Given the description of an element on the screen output the (x, y) to click on. 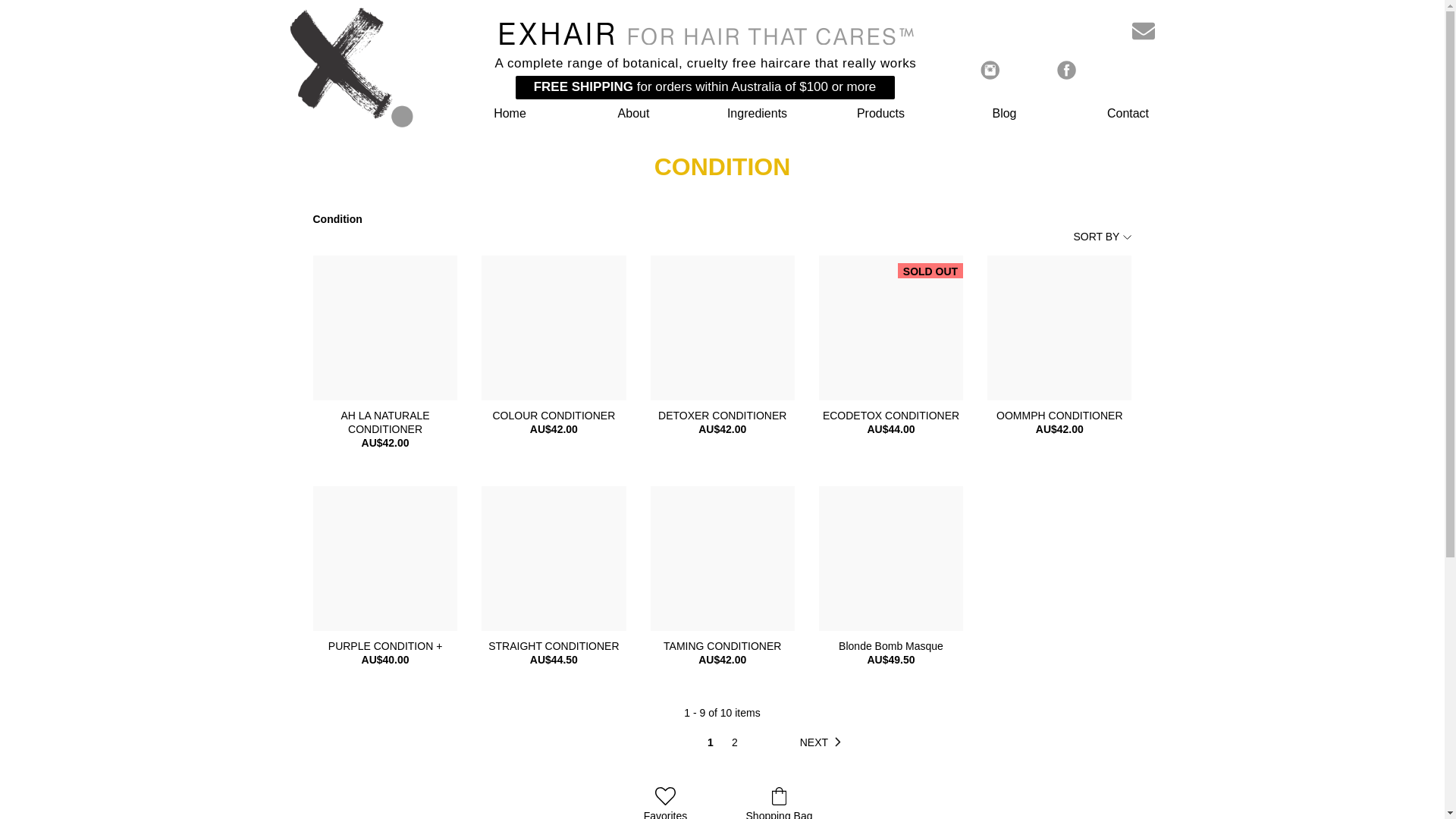
PURPLE CONDITION + Element type: text (385, 645)
Blog Element type: text (1003, 114)
STRAIGHT CONDITIONER Element type: hover (553, 558)
DETOXER CONDITIONER Element type: hover (722, 327)
COLOUR CONDITIONER Element type: hover (553, 327)
Blonde Bomb Masque Element type: text (891, 645)
STRAIGHT CONDITIONER Element type: text (553, 645)
DETOXER CONDITIONER Element type: text (722, 415)
NEXT Element type: text (823, 742)
AH LA NATURALE CONDITIONER Element type: text (385, 422)
Contact Element type: text (1128, 114)
OOMMPH CONDITIONER Element type: text (1059, 415)
COLOUR CONDITIONER Element type: text (553, 415)
SOLD OUT Element type: text (891, 327)
1 Element type: text (710, 742)
PURPLE CONDITION + Element type: hover (385, 558)
TAMING CONDITIONER Element type: hover (722, 558)
CONDITION Element type: text (722, 166)
2 Element type: text (734, 742)
AH LA NATURALE CONDITIONER Element type: hover (385, 327)
Home Element type: text (509, 114)
About Element type: text (633, 114)
ECODETOX CONDITIONER Element type: text (891, 415)
TAMING CONDITIONER Element type: text (722, 645)
Ingredients Element type: text (756, 114)
Blonde Bomb Masque Element type: hover (891, 558)
OOMMPH CONDITIONER Element type: hover (1059, 327)
Products Element type: text (881, 114)
